Given the description of an element on the screen output the (x, y) to click on. 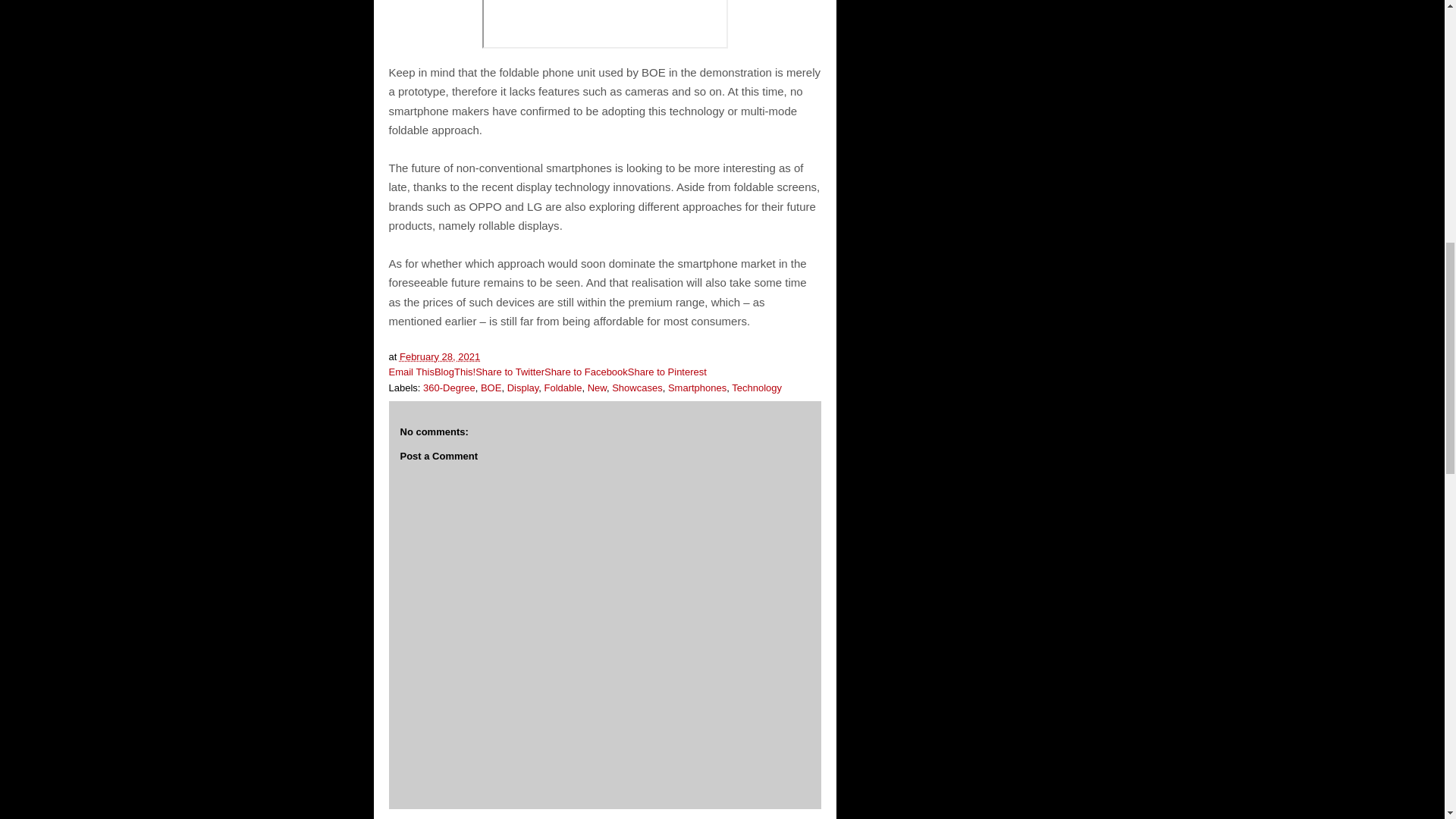
BOE (490, 387)
Display (522, 387)
BlogThis! (454, 371)
Email This (410, 371)
February 28, 2021 (439, 356)
Smartphones (697, 387)
Share to Twitter (510, 371)
Technology (756, 387)
New (597, 387)
Share to Facebook (585, 371)
Share to Twitter (510, 371)
Foldable (563, 387)
Share to Pinterest (666, 371)
Share to Facebook (585, 371)
permanent link (439, 356)
